Given the description of an element on the screen output the (x, y) to click on. 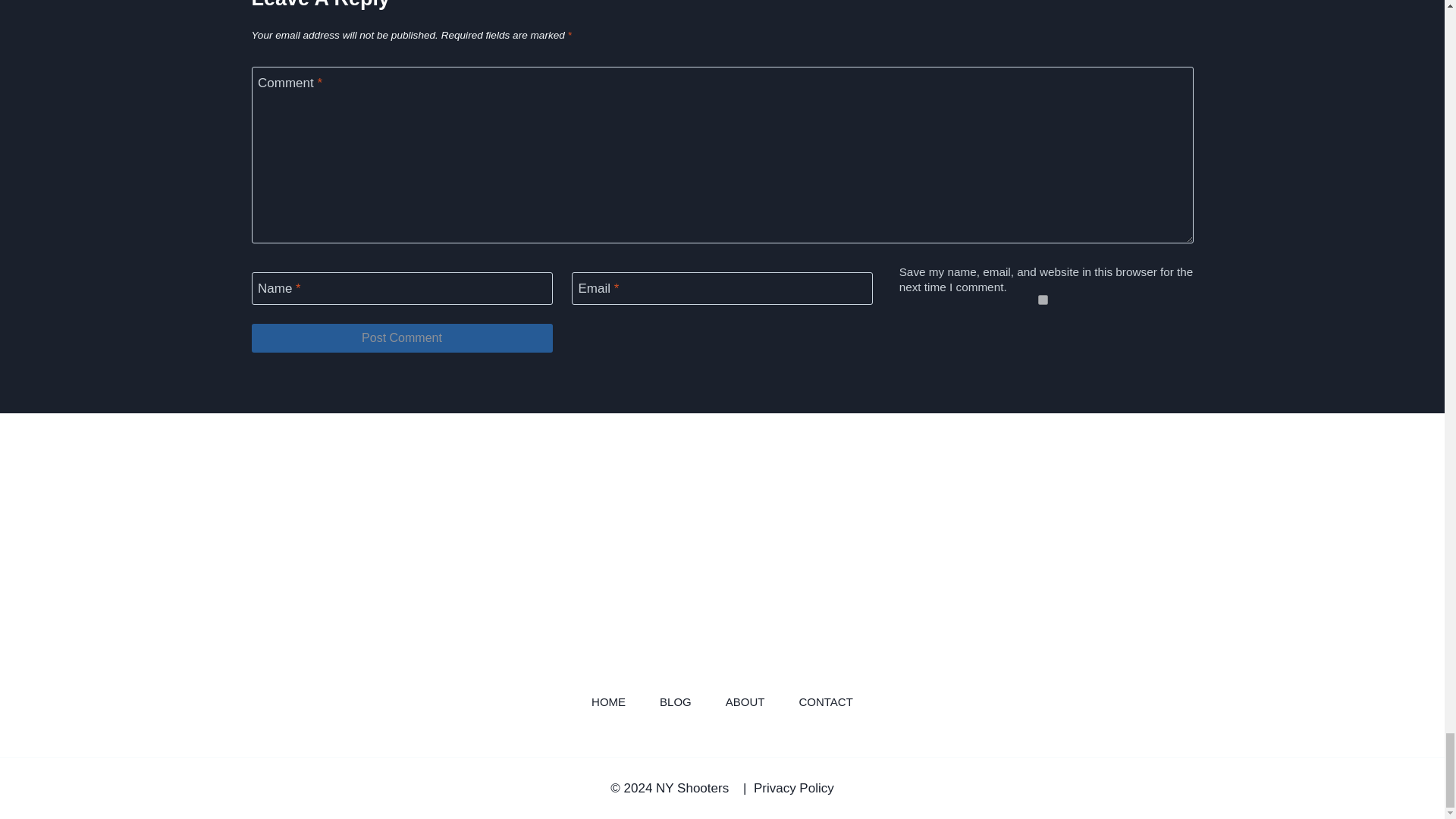
yes (1041, 299)
Post Comment (402, 337)
